Given the description of an element on the screen output the (x, y) to click on. 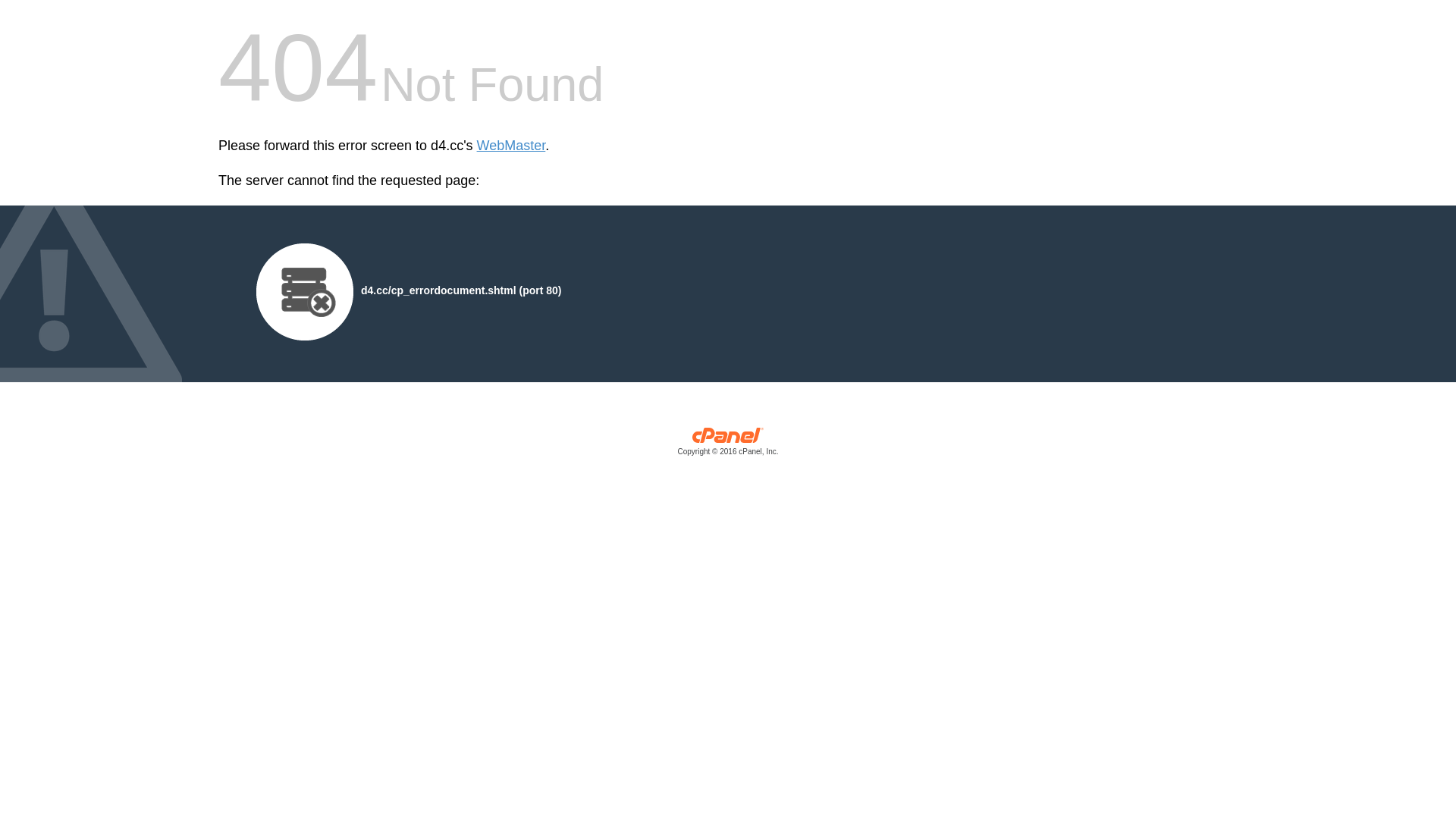
WebMaster Element type: text (511, 145)
